Given the description of an element on the screen output the (x, y) to click on. 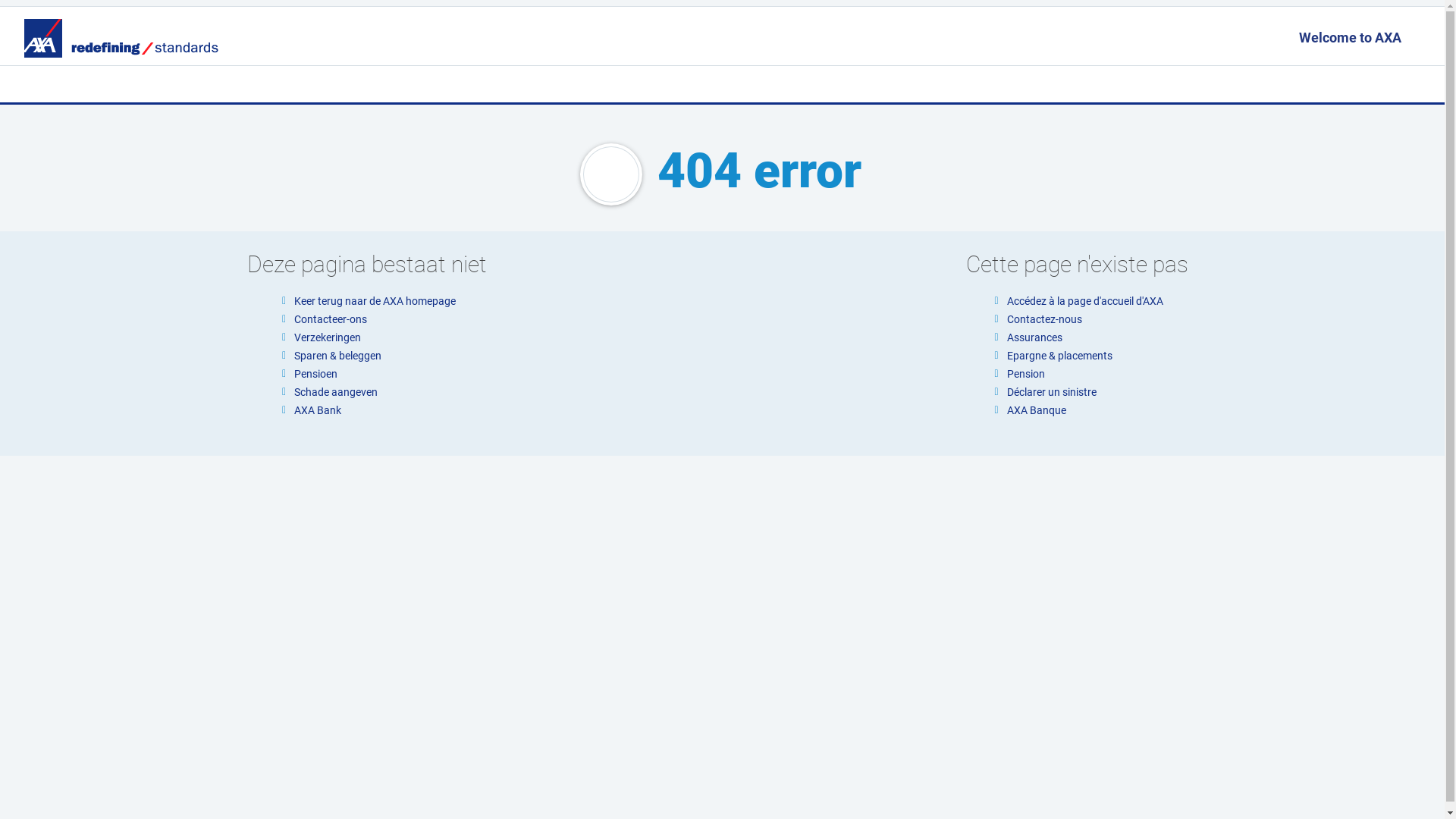
Verzekeringen Element type: text (327, 337)
Assurances Element type: text (1034, 337)
Pension Element type: text (1025, 373)
Keer terug naar de AXA homepage Element type: text (374, 300)
Schade aangeven Element type: text (335, 391)
Sparen & beleggen Element type: text (337, 355)
AXA Banque Element type: text (1036, 410)
AXA Bank Element type: text (317, 410)
Contactez-nous Element type: text (1044, 319)
Pensioen Element type: text (315, 373)
Epargne & placements Element type: text (1059, 355)
Contacteer-ons Element type: text (330, 319)
